Given the description of an element on the screen output the (x, y) to click on. 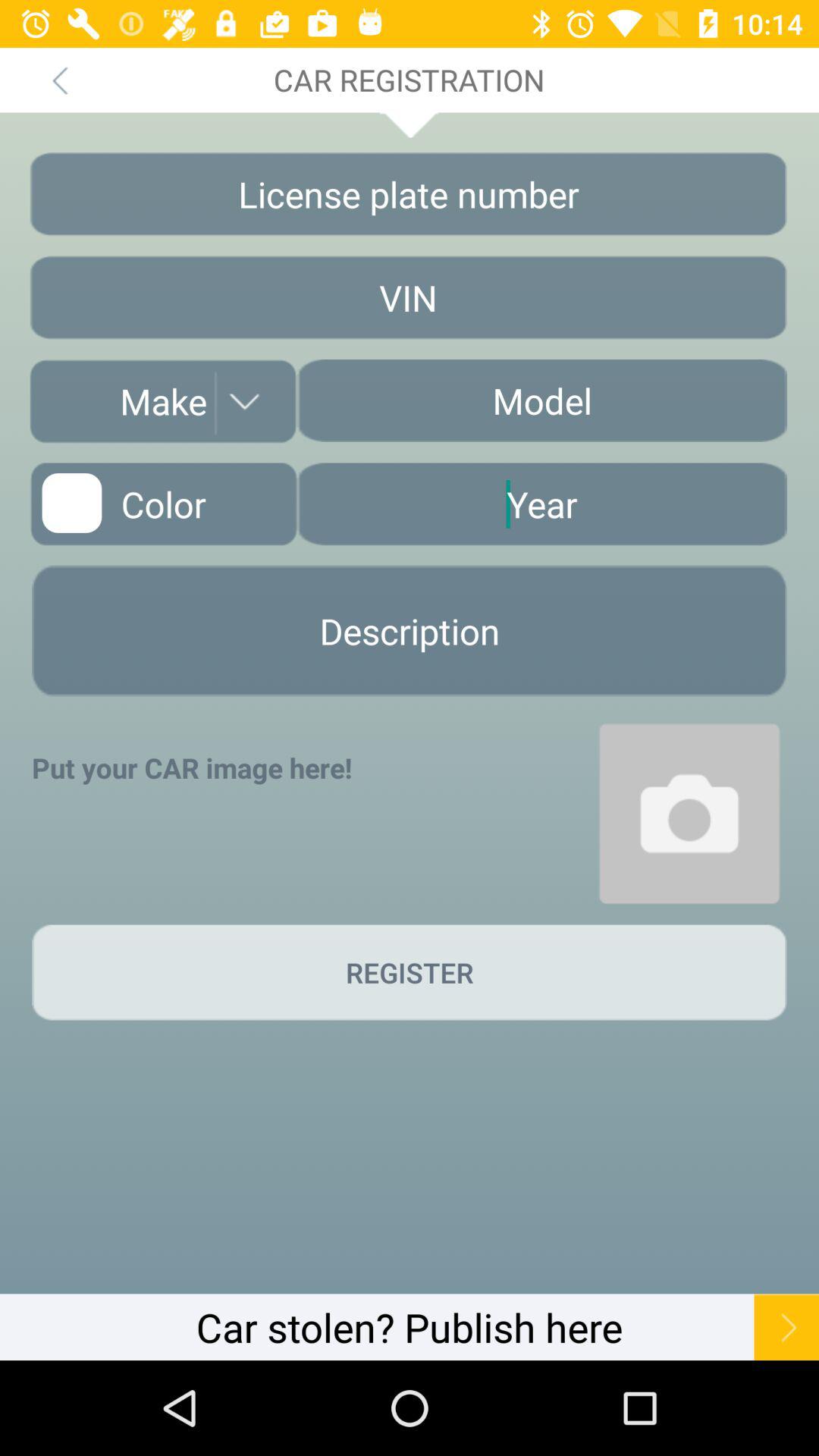
enter vin (408, 297)
